Given the description of an element on the screen output the (x, y) to click on. 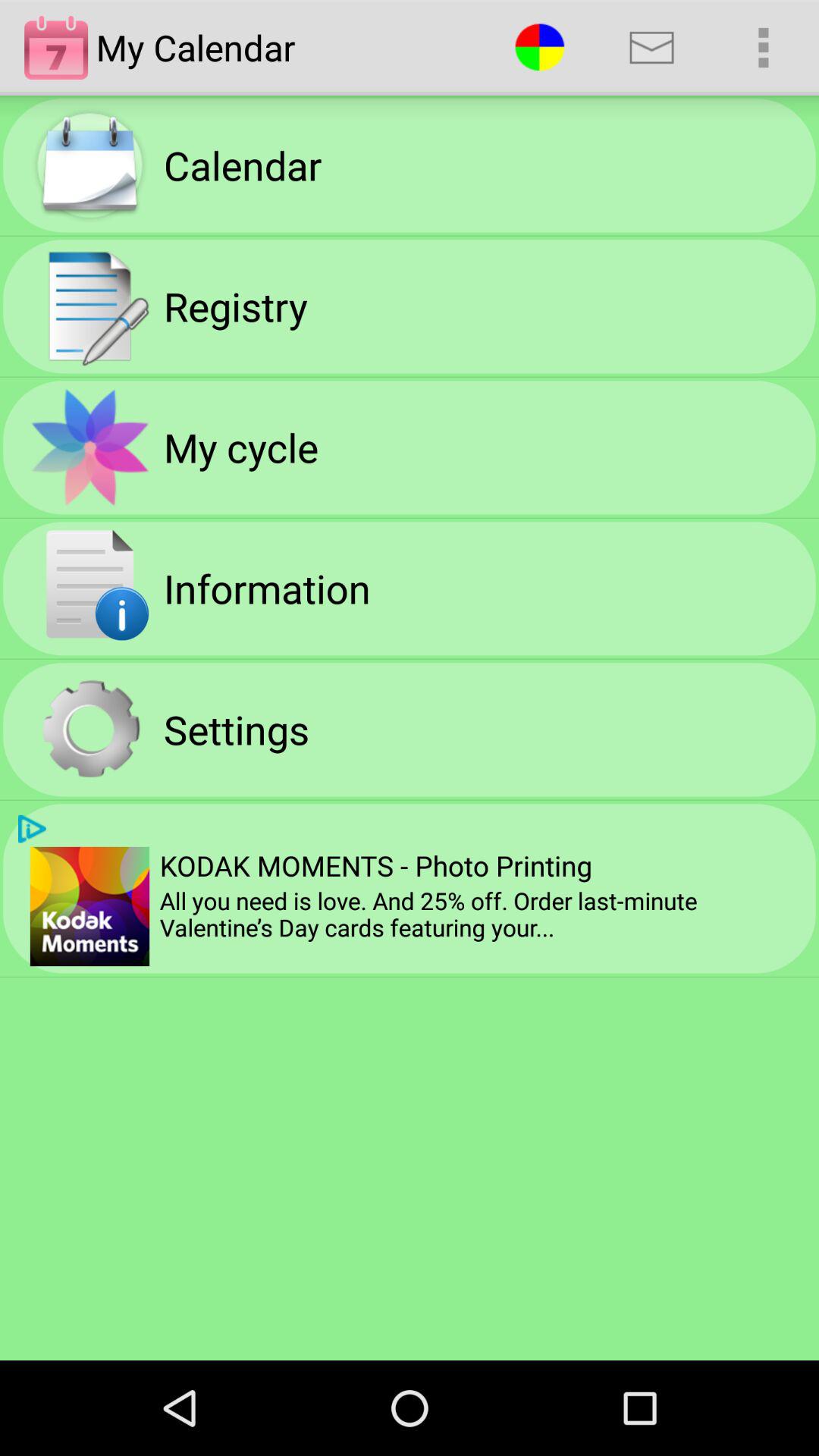
tap icon to the left of kodak moments photo app (32, 828)
